Given the description of an element on the screen output the (x, y) to click on. 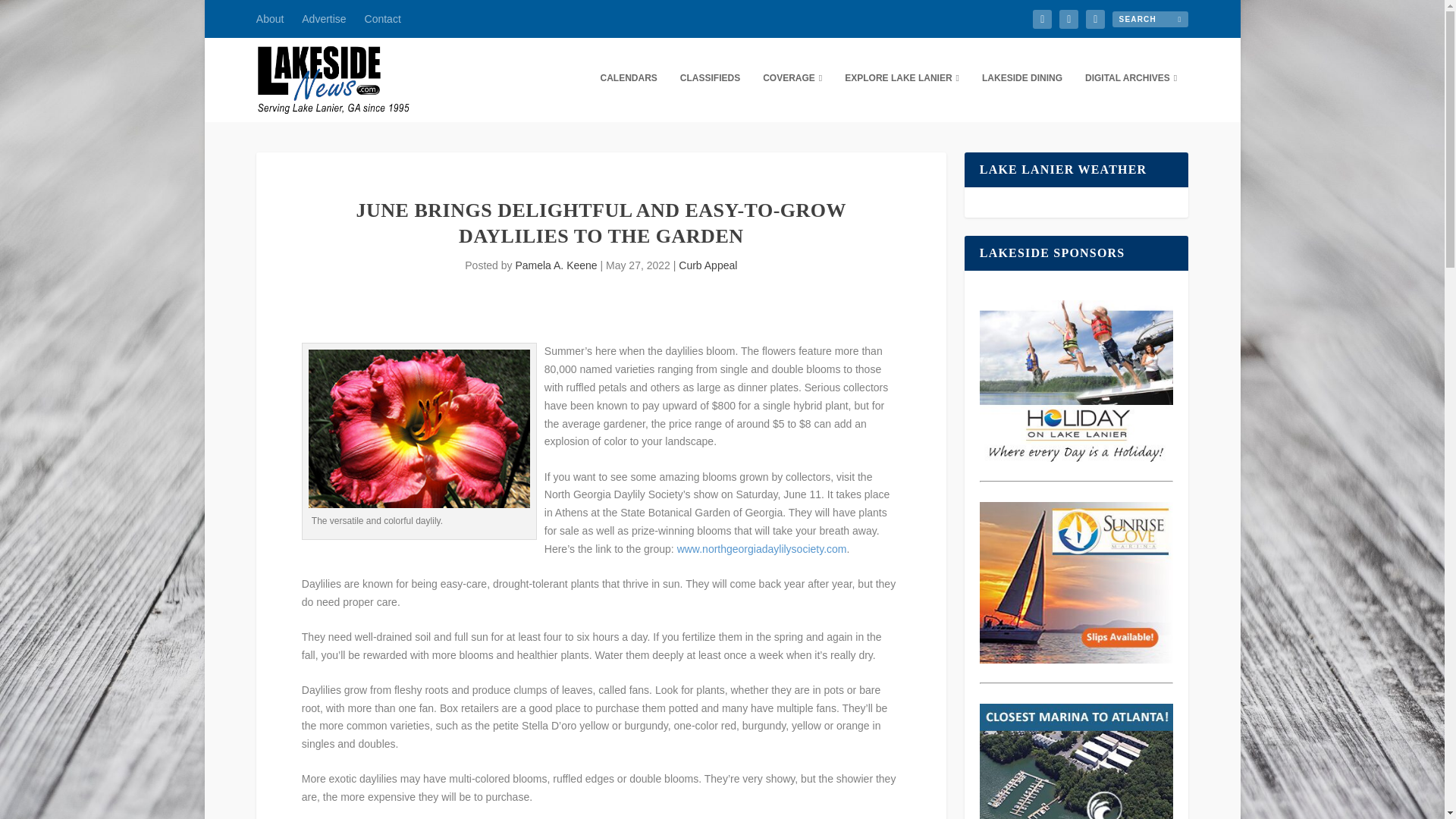
Photo: by Pamela A. Keene (418, 427)
EXPLORE LAKE LANIER (901, 97)
Advertise (323, 18)
CLASSIFIEDS (709, 97)
Posts by Pamela A. Keene (555, 265)
COVERAGE (792, 97)
Contact (383, 18)
CALENDARS (627, 97)
